Given the description of an element on the screen output the (x, y) to click on. 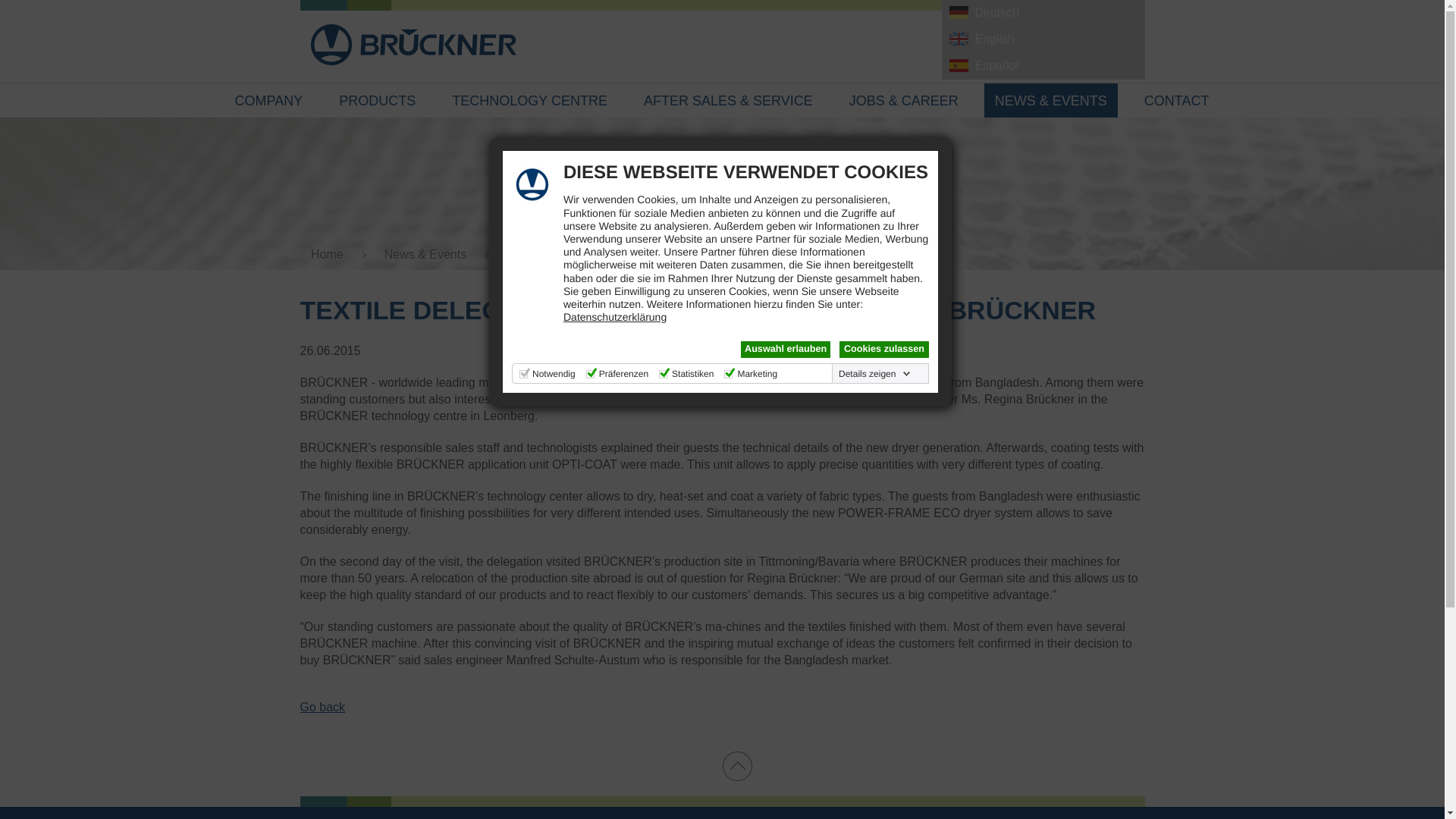
Auswahl erlauben (785, 349)
Cookies zulassen (884, 349)
Details zeigen (874, 373)
